Given the description of an element on the screen output the (x, y) to click on. 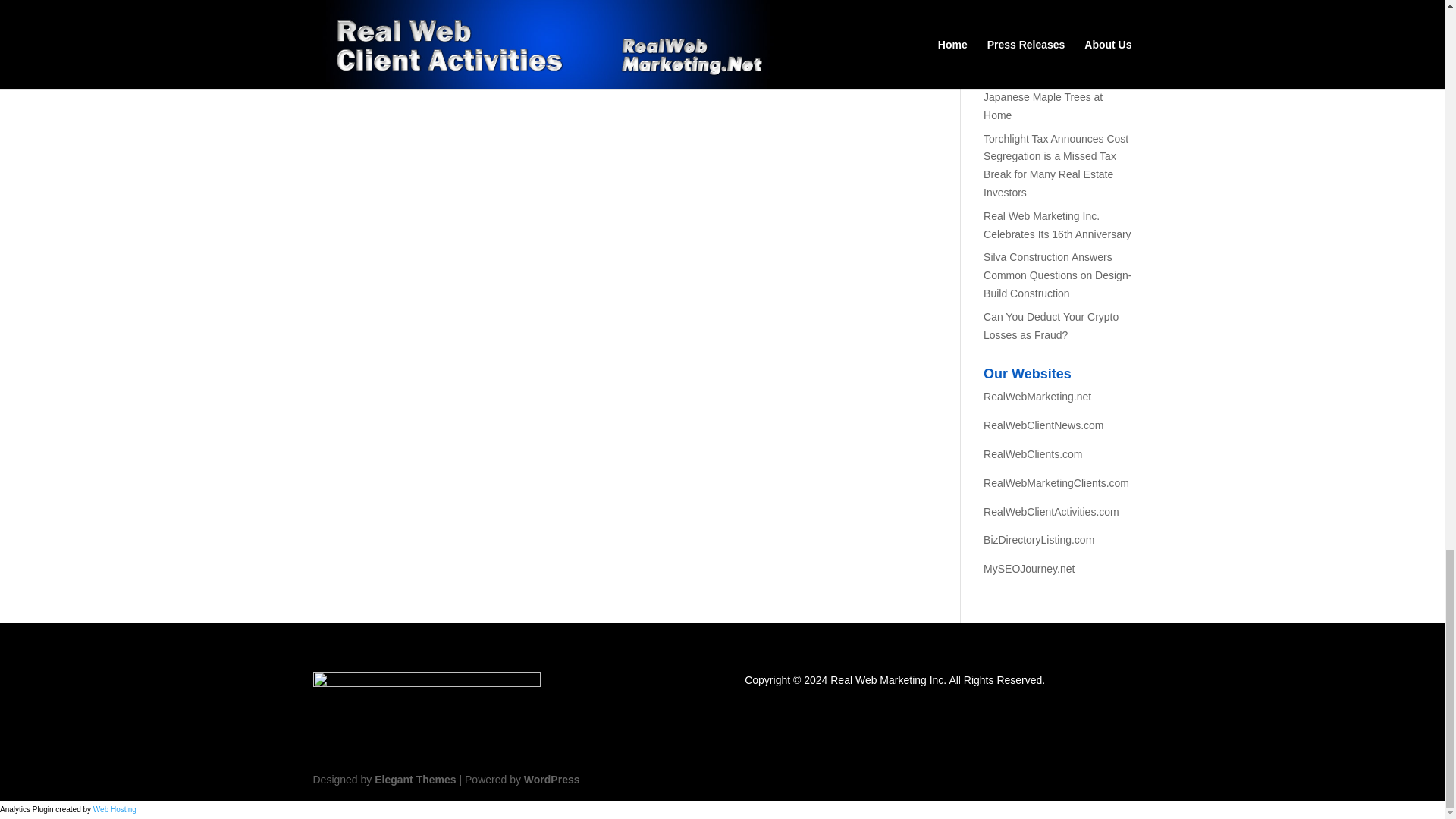
Premium WordPress Themes (414, 779)
